Given the description of an element on the screen output the (x, y) to click on. 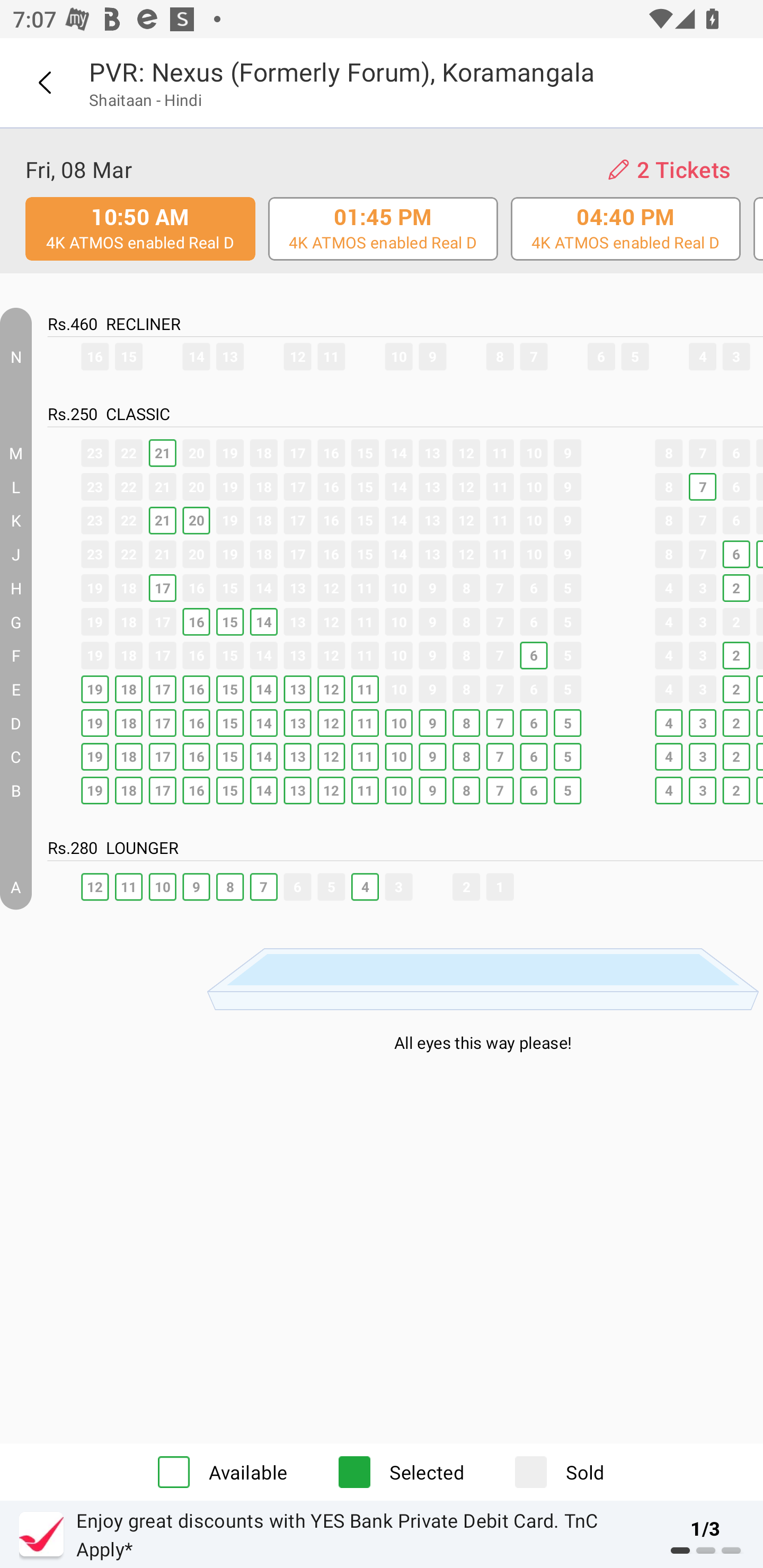
Back (44, 82)
 2 Tickets (668, 169)
10:50 AM 4K ATMOS enabled Real D (140, 228)
01:45 PM 4K ATMOS enabled Real D (382, 228)
04:40 PM 4K ATMOS enabled Real D (625, 228)
